Given the description of an element on the screen output the (x, y) to click on. 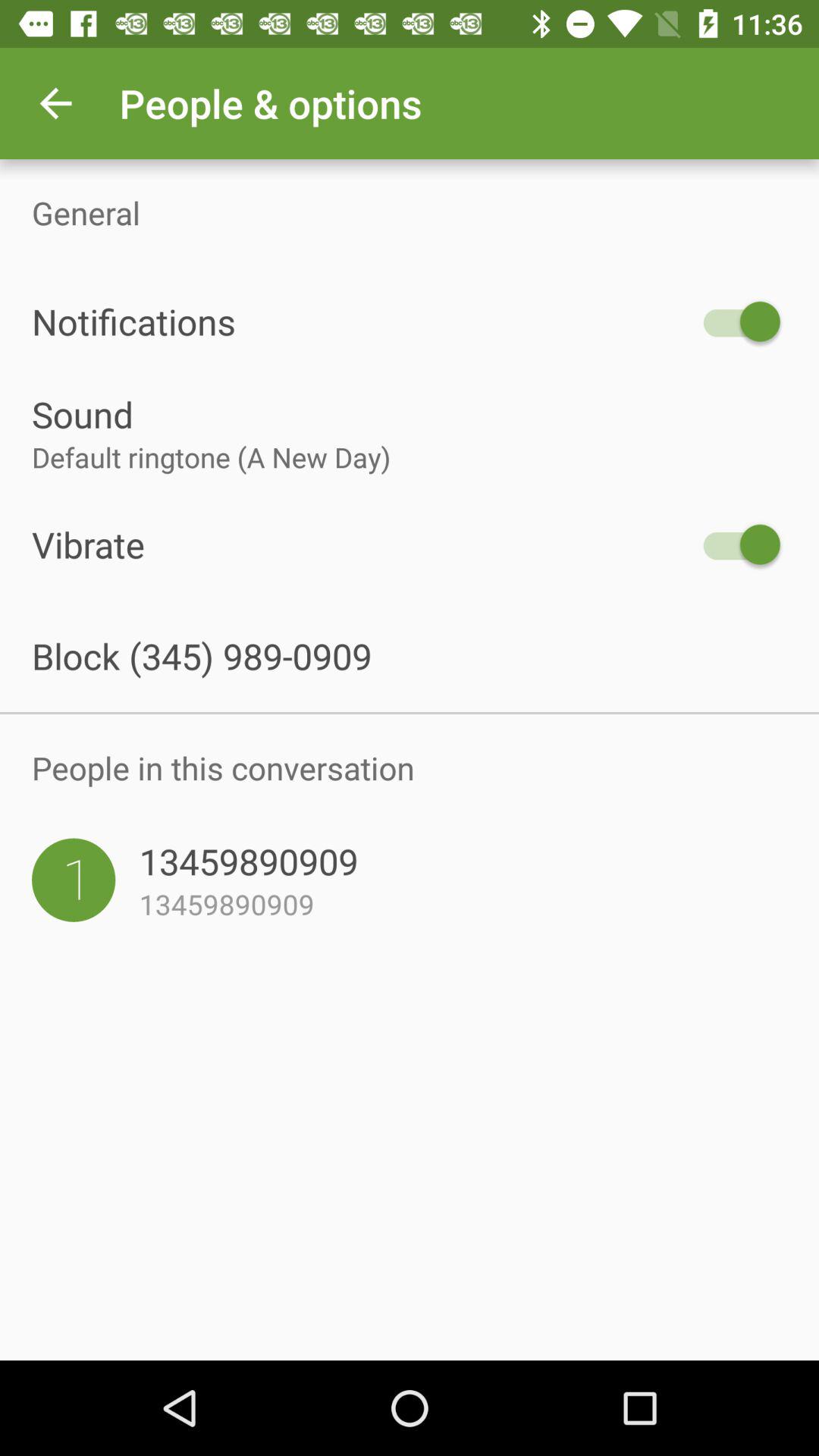
open the sound item (409, 414)
